Given the description of an element on the screen output the (x, y) to click on. 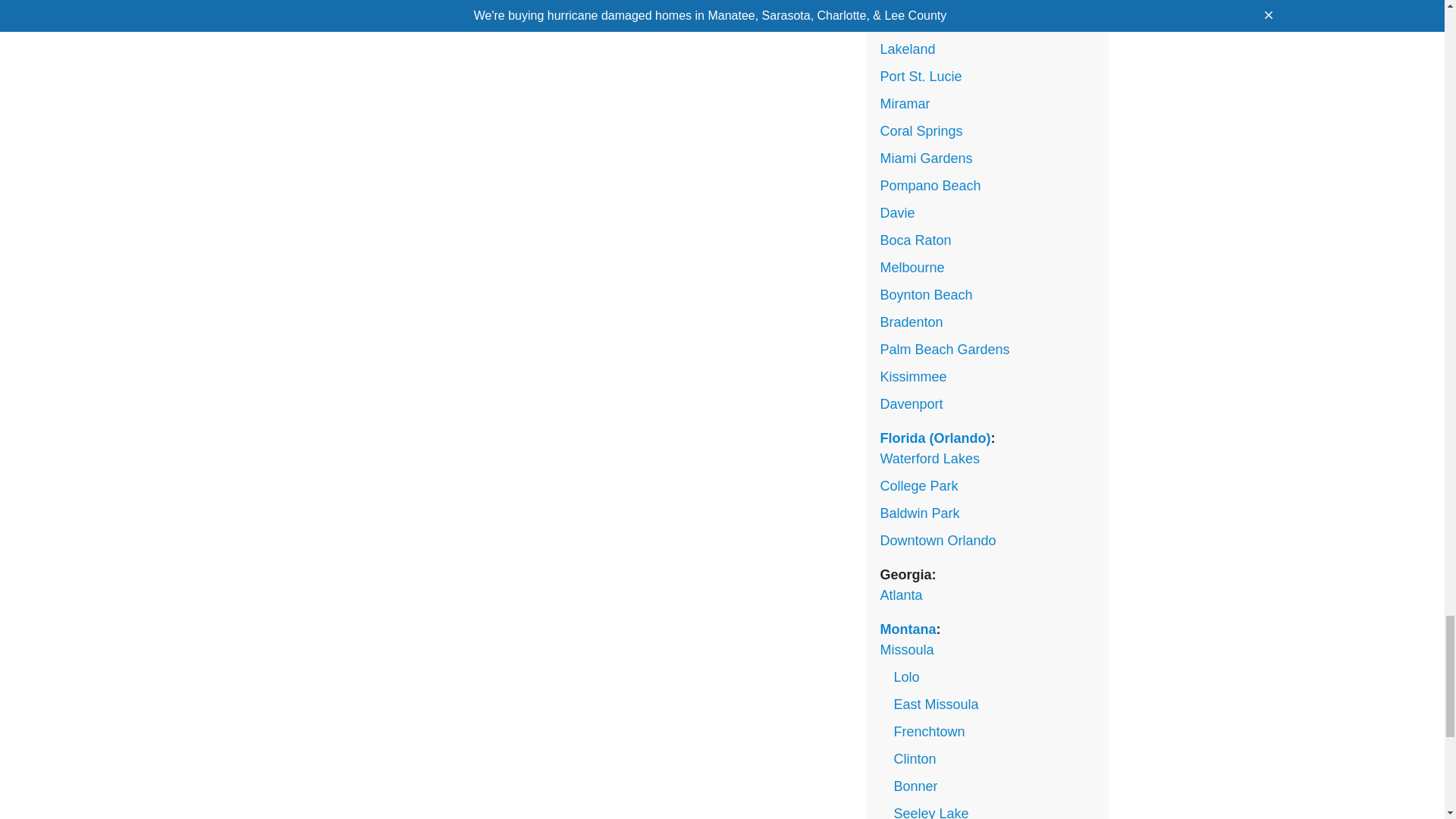
Share (362, 8)
Tweet (425, 8)
Share on Facebook (362, 8)
Share on Twitter (425, 8)
